Given the description of an element on the screen output the (x, y) to click on. 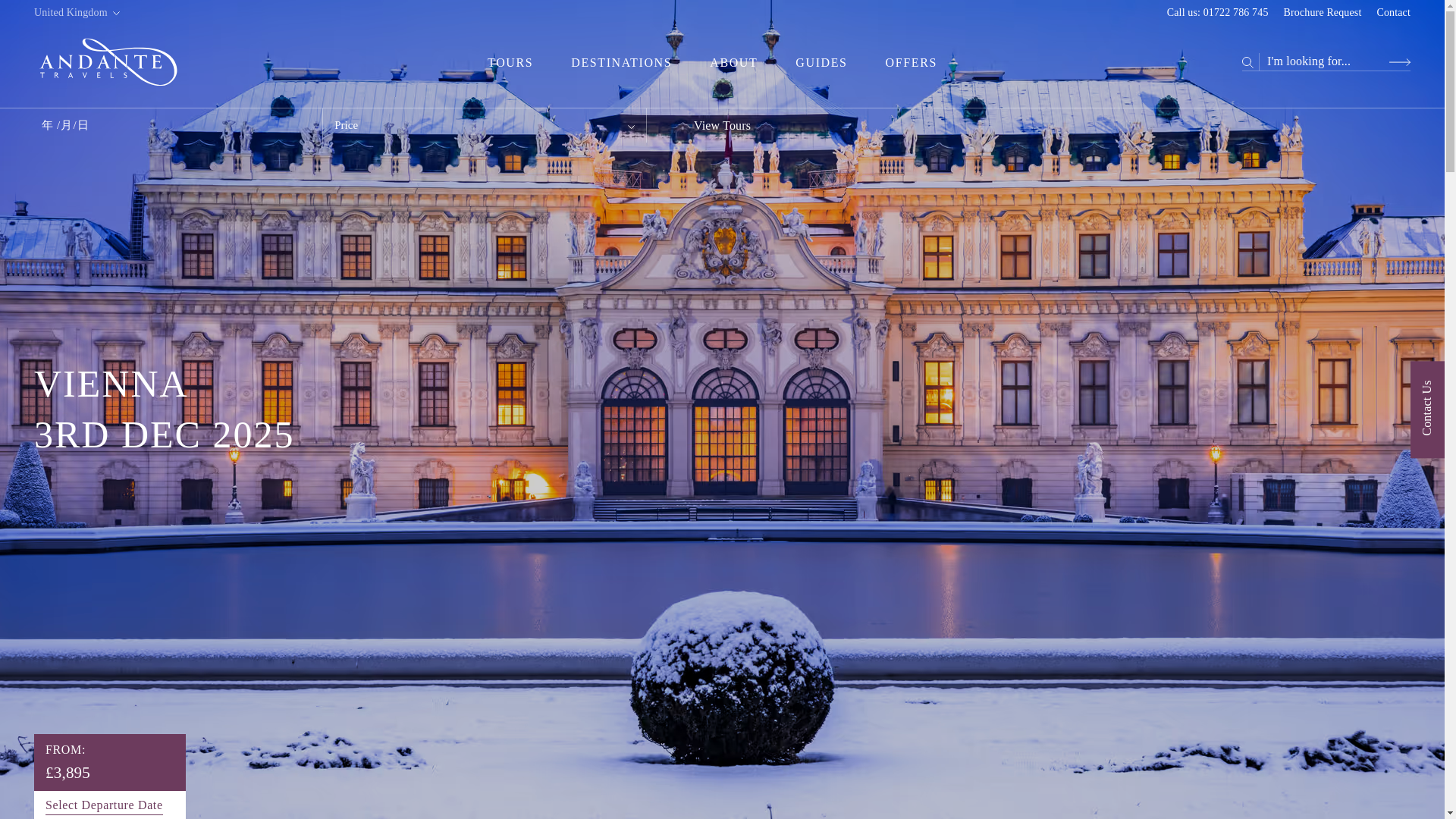
View Tours (721, 125)
Price (484, 125)
GUIDES (820, 62)
DESTINATIONS (620, 62)
ABOUT (733, 62)
Contact (1392, 11)
Select Departure Date (104, 804)
OFFERS (911, 62)
Brochure Request (1322, 11)
TOURS (509, 62)
01722 786 745 (1236, 11)
